Given the description of an element on the screen output the (x, y) to click on. 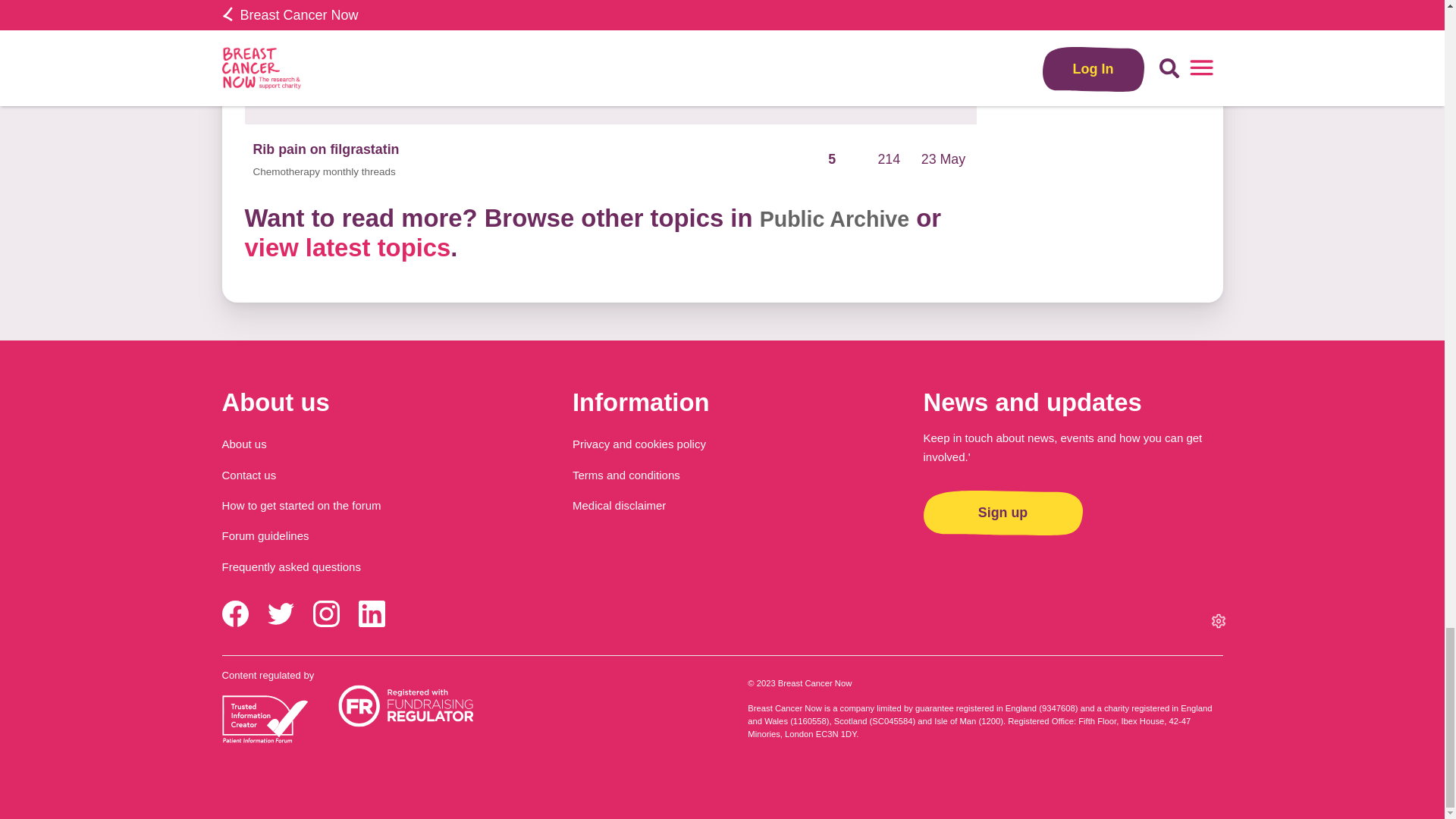
Top tips and practical support (320, 28)
Feeding cancer (302, 7)
17 Apr (943, 17)
